Given the description of an element on the screen output the (x, y) to click on. 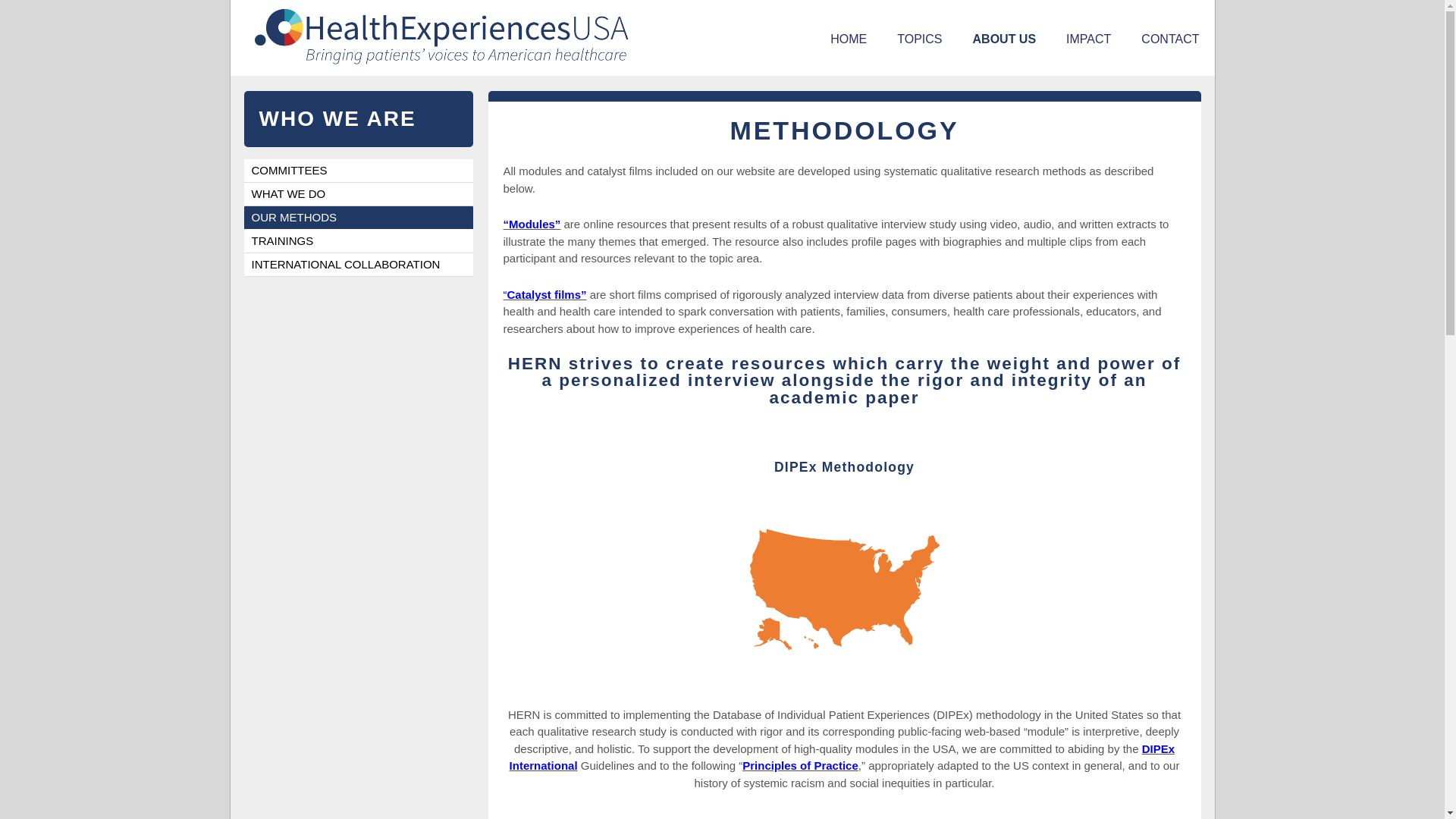
TRAININGS (358, 241)
INTERNATIONAL COLLABORATION (358, 264)
WHAT WE DO (358, 194)
Principles of Practice (800, 765)
COMMITTEES (358, 170)
DIPEx International (841, 757)
CONTACT (1169, 38)
IMPACT (1088, 38)
ABOUT US (1004, 38)
OUR METHODS (358, 218)
HOME (848, 38)
TOPICS (919, 38)
